Given the description of an element on the screen output the (x, y) to click on. 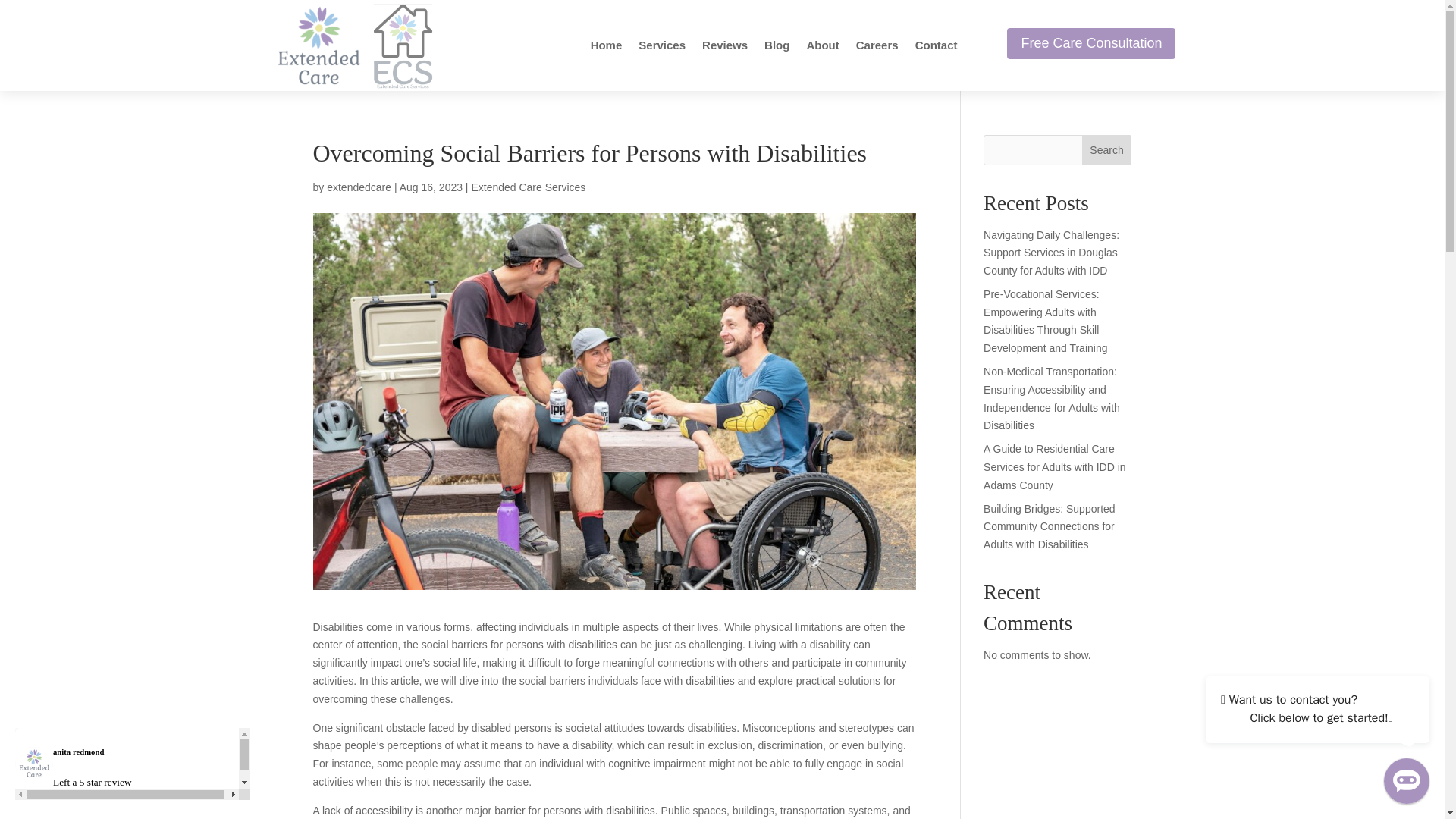
extendedcare (358, 186)
Free Care Consultation (1091, 43)
Search (1106, 150)
Extended Care Services (527, 186)
Posts by extendedcare (358, 186)
